Given the description of an element on the screen output the (x, y) to click on. 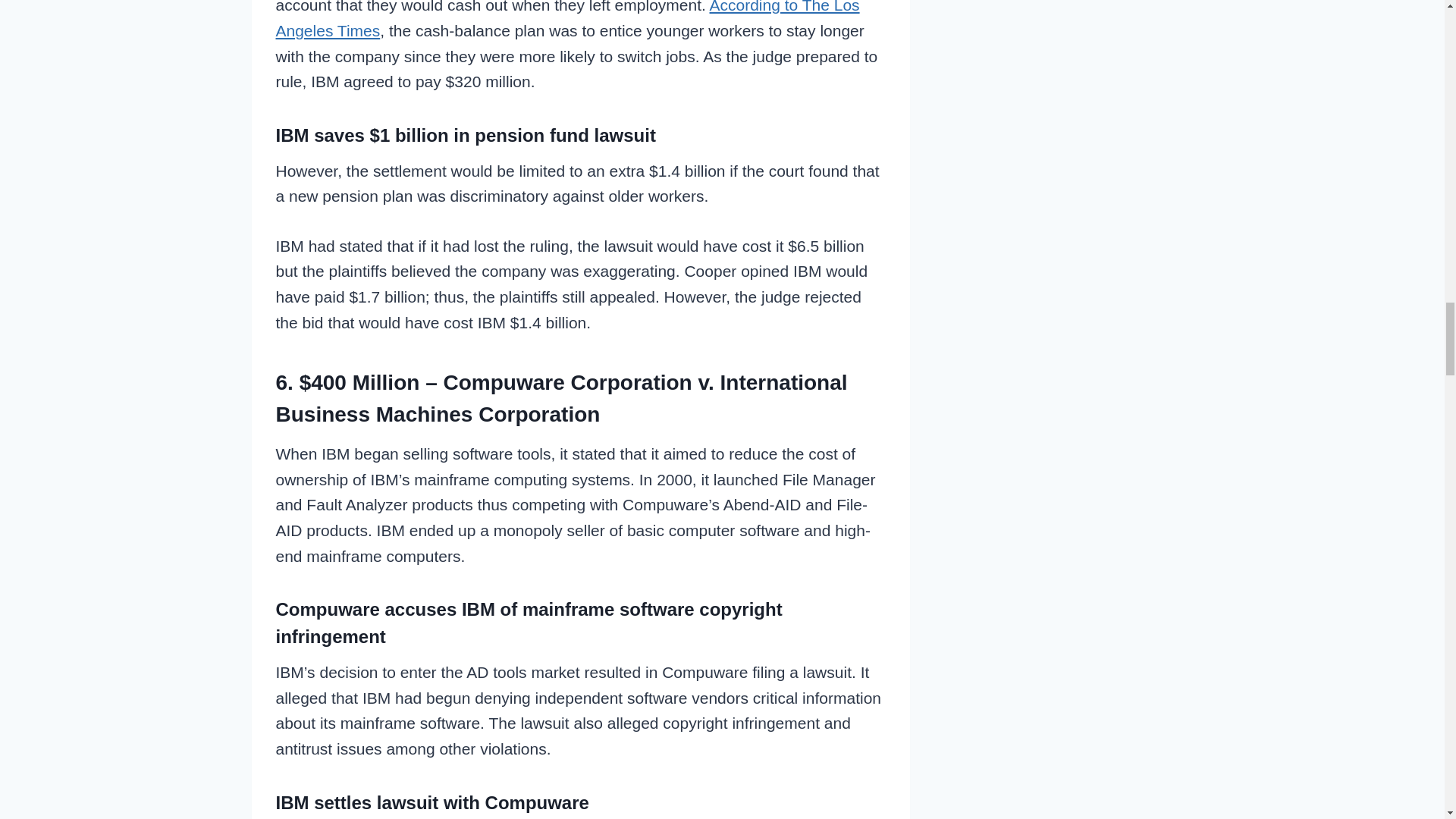
According to The Los Angeles Times (568, 19)
